Given the description of an element on the screen output the (x, y) to click on. 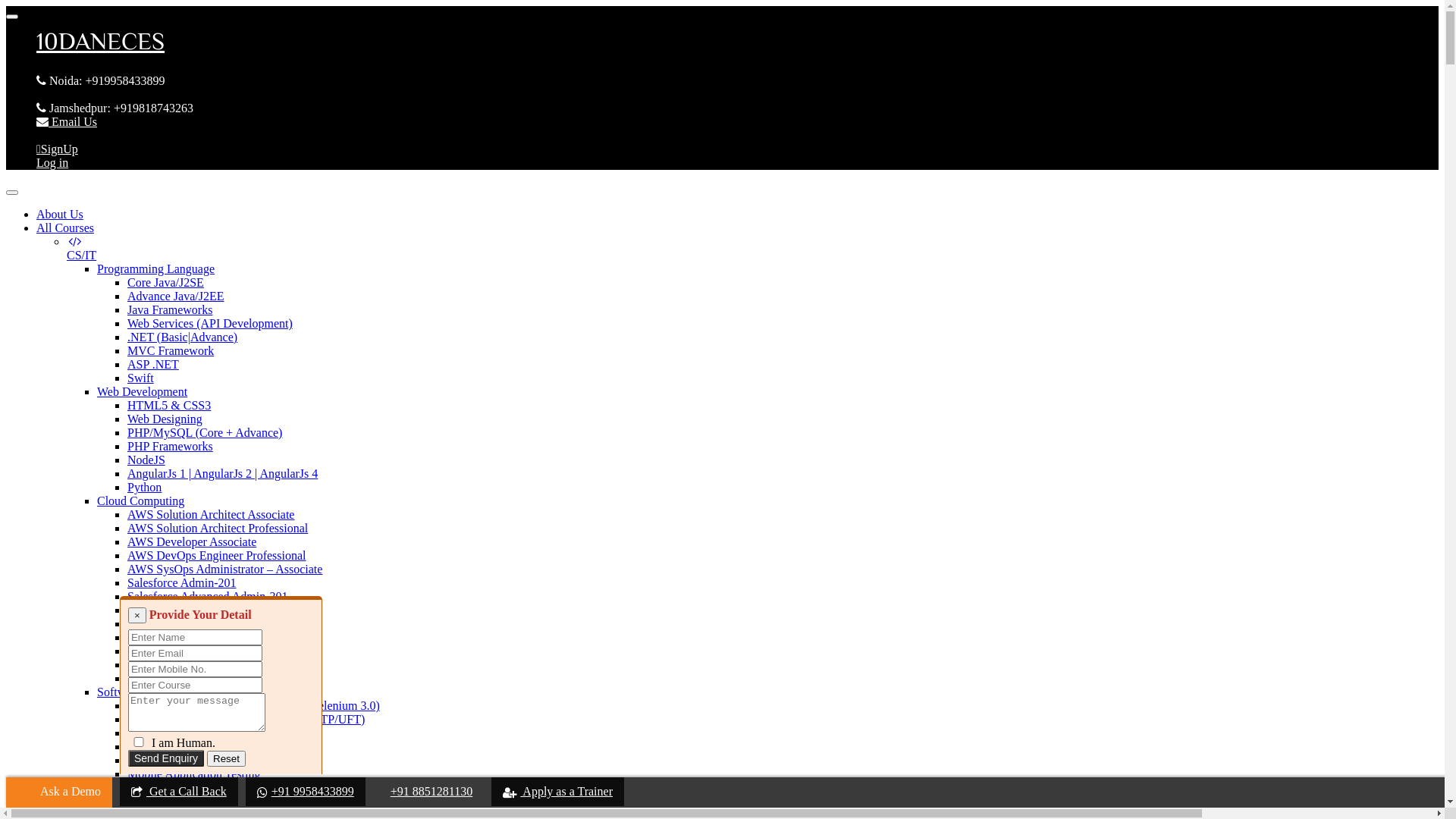
PHP Frameworks Element type: text (170, 445)
Java Frameworks Element type: text (169, 309)
Get a Call Back Element type: text (178, 791)
NodeJS Element type: text (146, 459)
Email Us Element type: text (66, 121)
AWS Developer Associate Element type: text (191, 541)
SignUp Element type: text (57, 148)
Salesforce Advanced Admin-301 Element type: text (207, 595)
Cloud Computing Element type: text (140, 500)
About Us Element type: text (59, 213)
Core Java/J2SE Element type: text (165, 282)
Apex & Visual Force Development Element type: text (212, 677)
MVC Framework Element type: text (170, 350)
Web Development Element type: text (142, 391)
All Courses Element type: text (65, 227)
Advance Java/J2EE Element type: text (175, 295)
AWS DevOps Engineer Professional Element type: text (216, 555)
Apply as a Trainer Element type: text (557, 791)
Web Designing Element type: text (164, 418)
Database Testing Element type: text (168, 746)
Jamshedpur: +919818743263 Element type: text (114, 107)
Agile Element type: text (140, 787)
Salesforce Marketing Cloud Consultant Element type: text (223, 636)
AWS Solution Architect Associate Element type: text (210, 514)
ASP .NET Element type: text (152, 363)
Toggle navigation Element type: text (12, 16)
+91 8851281130 Element type: text (428, 791)
.NET (Basic|Advance) Element type: text (182, 336)
ETL Testing Element type: text (157, 732)
ISTQB Certification Element type: text (176, 759)
Toggle navigation Element type: text (12, 192)
Web Services (API Development) Element type: text (209, 322)
Salesforce Sales Cloud Consultant Element type: text (210, 664)
Log in Element type: text (52, 162)
Swift Element type: text (140, 377)
CS/IT Element type: text (81, 248)
Automation Testing Element type: text (145, 800)
PHP/MySQL (Core + Advance) Element type: text (204, 432)
Noida: +919958433899 Element type: text (100, 80)
Salesforce Admin-201 Element type: text (181, 582)
Send Enquiry Element type: text (165, 757)
Python Element type: text (144, 486)
HTML5 & CSS3 Element type: text (168, 404)
Salesforce Service Cloud Consultant Element type: text (216, 650)
AWS Solution Architect Professional Element type: text (217, 527)
AngularJs 1 | AngularJs 2 | AngularJs 4 Element type: text (222, 473)
Mobile Application Testing Element type: text (193, 773)
Programming Language Element type: text (155, 268)
Ask a Demo Element type: text (59, 793)
+91 9958433899 Element type: text (305, 791)
Software Testing Element type: text (137, 691)
10DANECES Element type: text (722, 47)
